Given the description of an element on the screen output the (x, y) to click on. 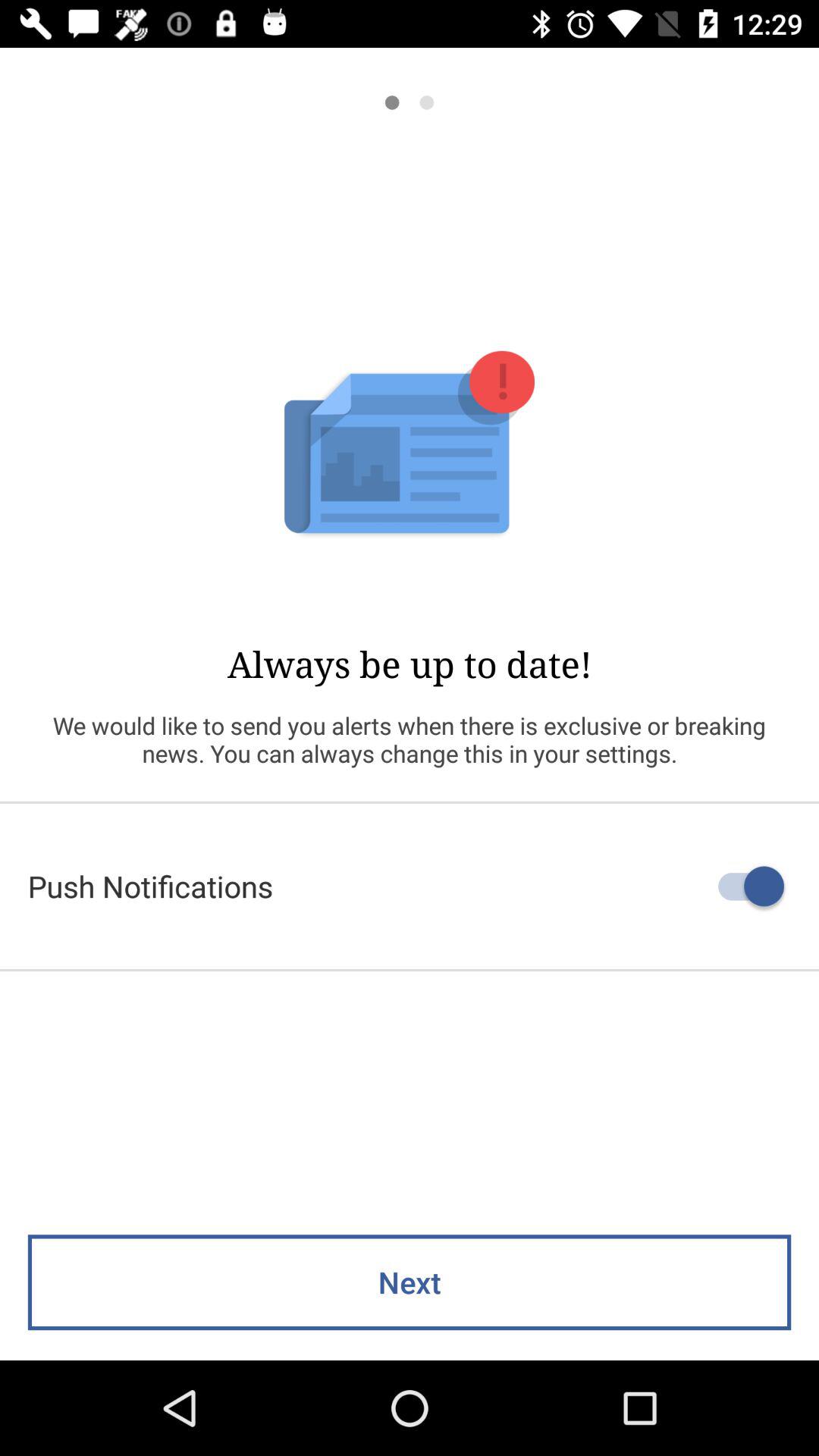
swipe to next (409, 1282)
